Given the description of an element on the screen output the (x, y) to click on. 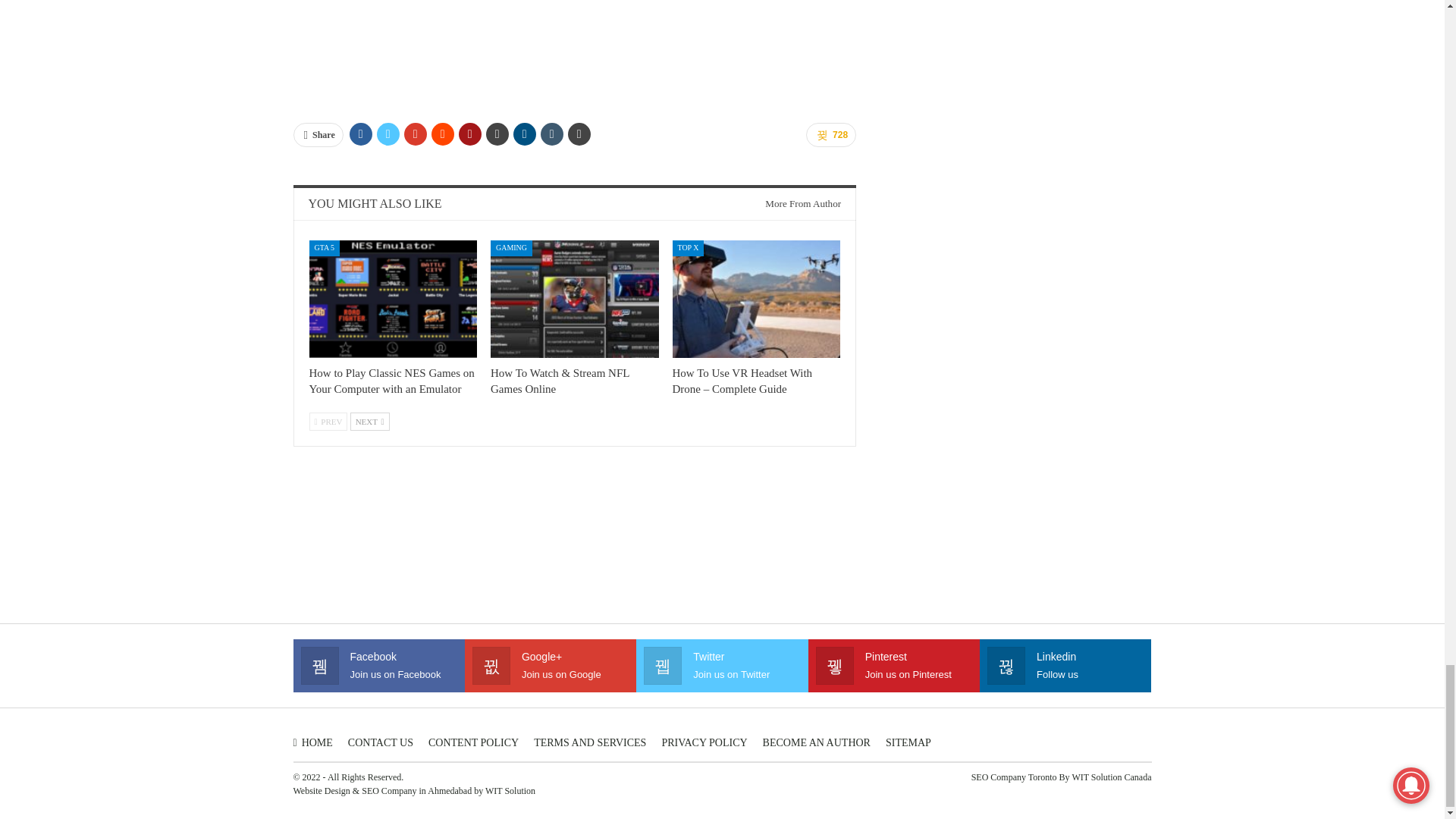
Next (370, 421)
Previous (327, 421)
